Given the description of an element on the screen output the (x, y) to click on. 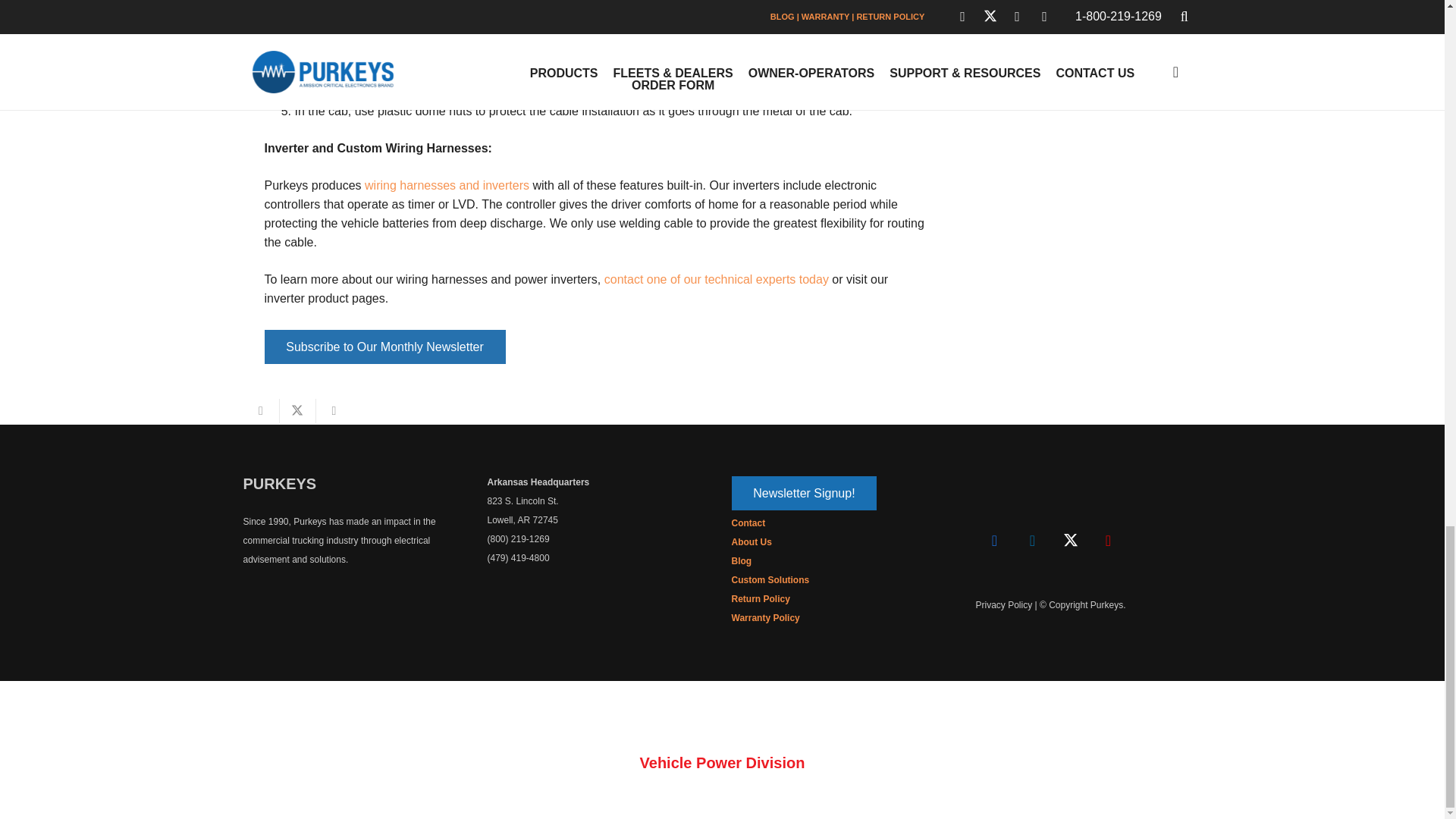
Twitter (1070, 540)
About Us (750, 542)
YouTube (1107, 540)
Tweet this (297, 410)
Share this (333, 410)
Contact (747, 522)
Facebook (994, 540)
Share this (261, 410)
LinkedIn (1032, 540)
wiring harnesses and inverters (447, 185)
contact one of our technical experts today (716, 278)
Subscribe to Our Monthly Newsletter (384, 346)
Newsletter Signup! (803, 492)
